Given the description of an element on the screen output the (x, y) to click on. 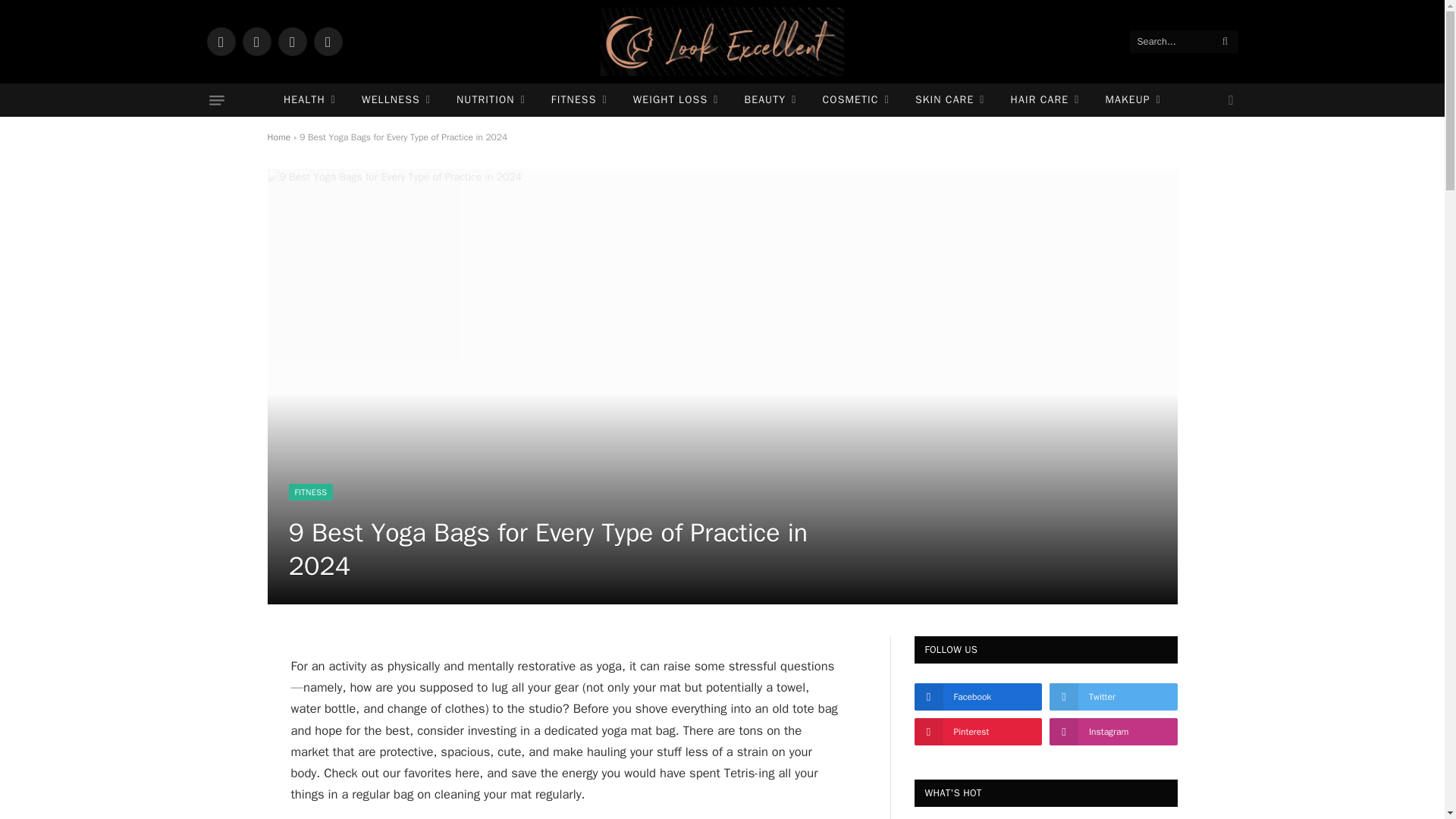
HEALTH (309, 100)
Instagram (291, 41)
WELLNESS (396, 100)
Facebook (220, 41)
LookExcellent.com (721, 41)
Pinterest (328, 41)
